Given the description of an element on the screen output the (x, y) to click on. 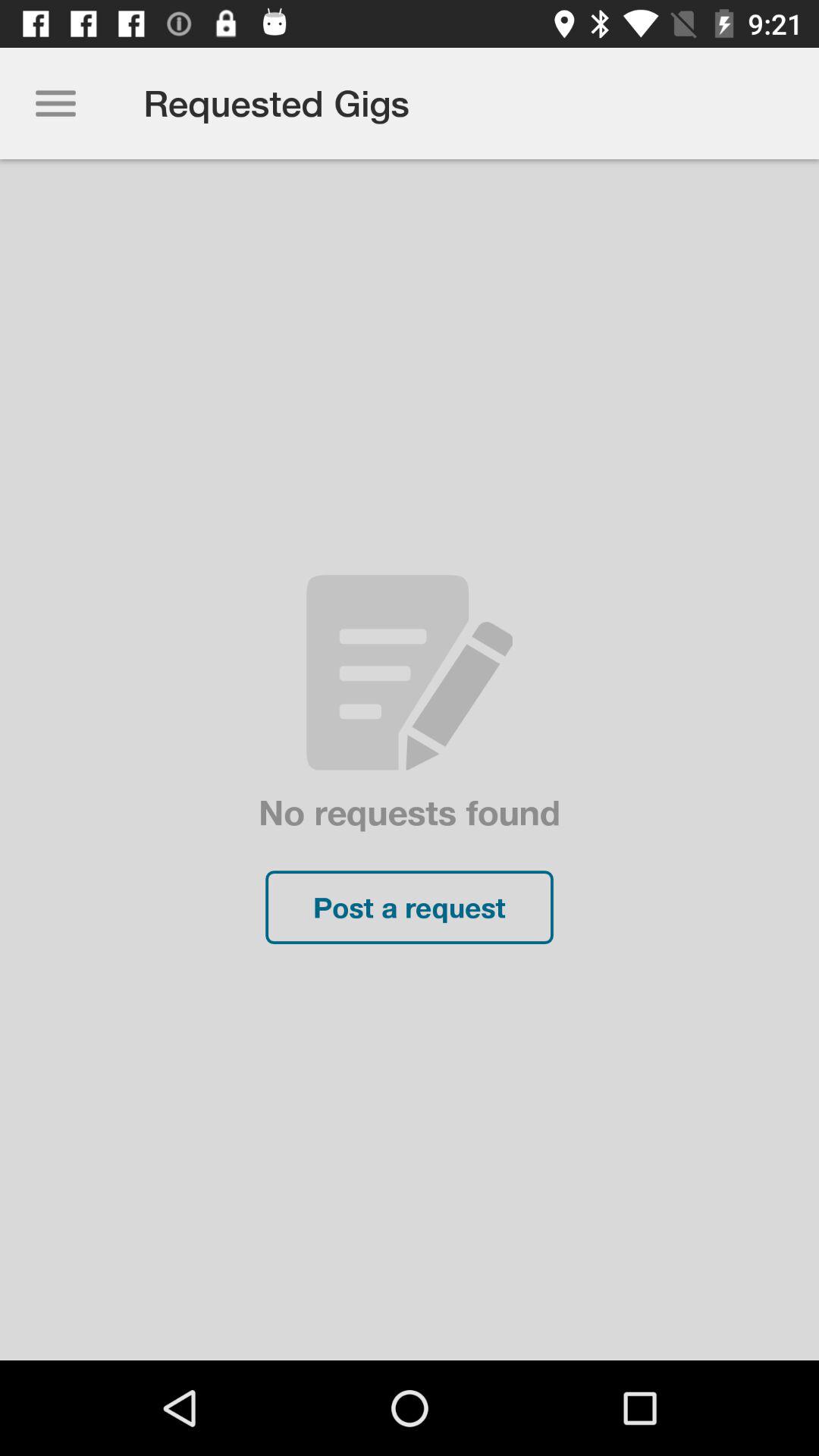
open icon next to requested gigs (55, 103)
